Given the description of an element on the screen output the (x, y) to click on. 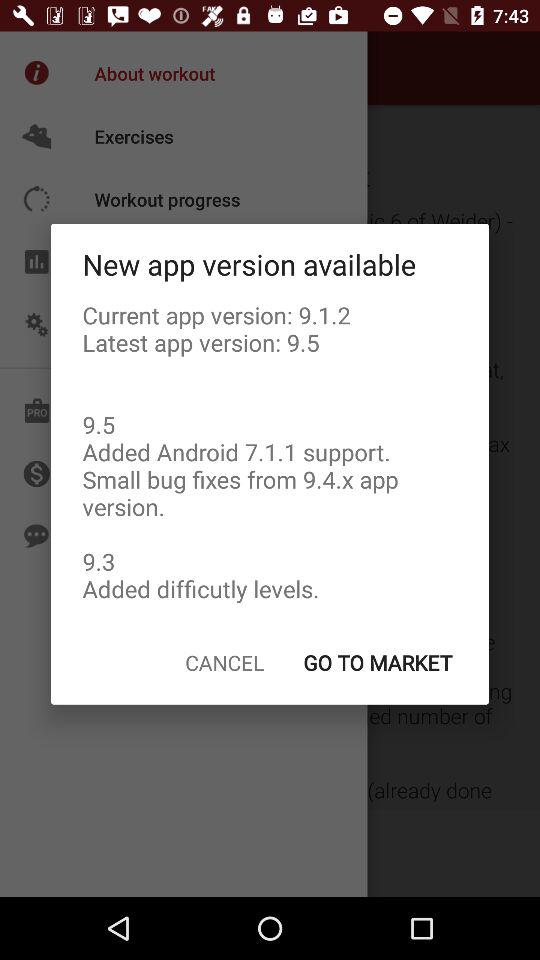
choose cancel (224, 662)
